Given the description of an element on the screen output the (x, y) to click on. 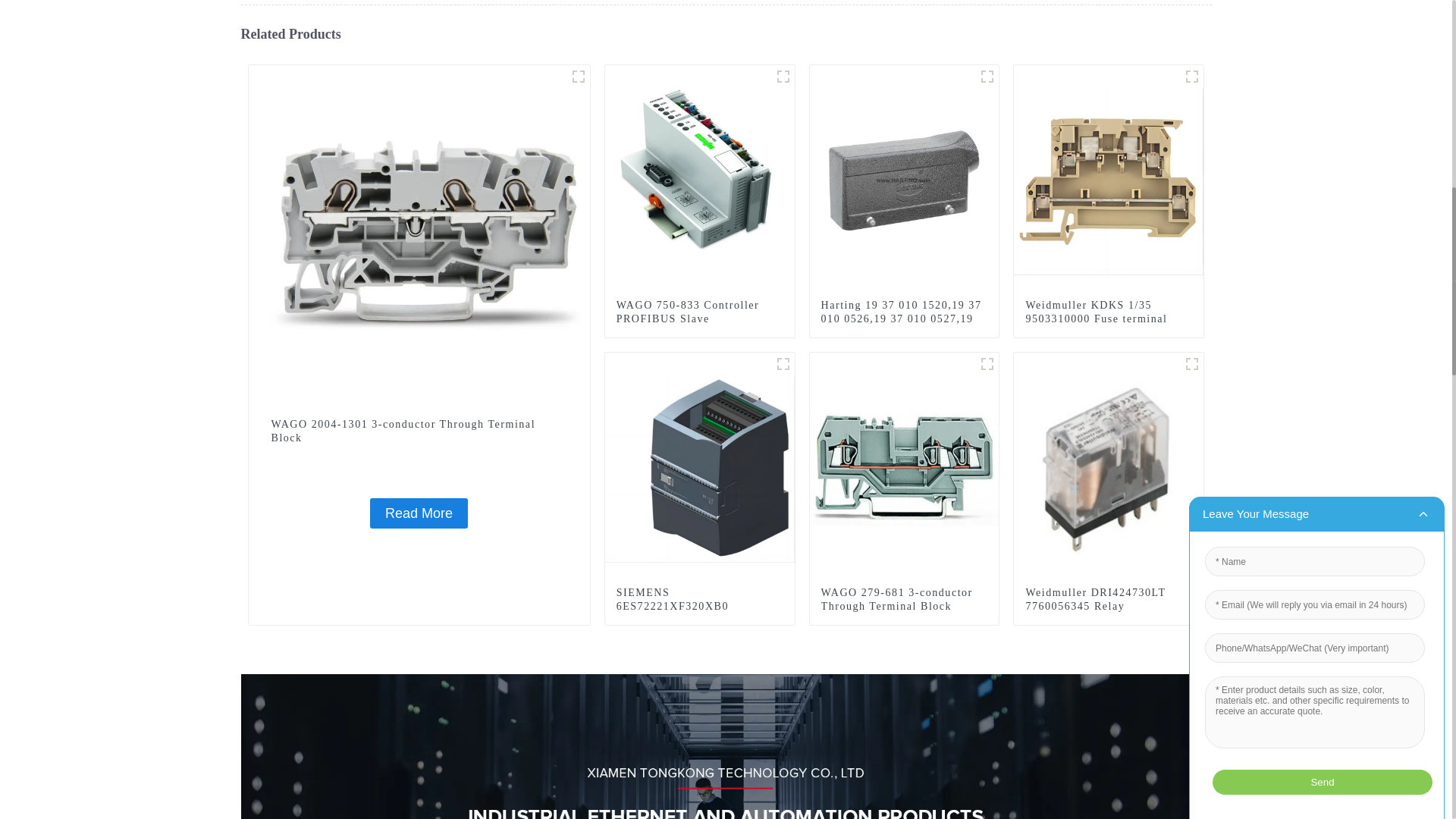
WAGO 279-681 3-conductor Through Terminal Block (904, 599)
WAGO 750-833 Controller PROFIBUS Slave (699, 178)
WAGO 750-833 Controller PROFIBUS Slave (699, 311)
WAGO 2004-1301 3-conductor Through Terminal Block (418, 234)
WAGO 750-833 (782, 76)
WAGO 2004-1301 3-conductor Through Terminal Block (418, 431)
WAGO 2004-1301 (578, 76)
WAGO 279-681 3-conductor Through Terminal Block (903, 466)
WAGO 2004-1301 3-conductor Through Terminal Block (418, 512)
WAGO 279-681 (986, 363)
